Given the description of an element on the screen output the (x, y) to click on. 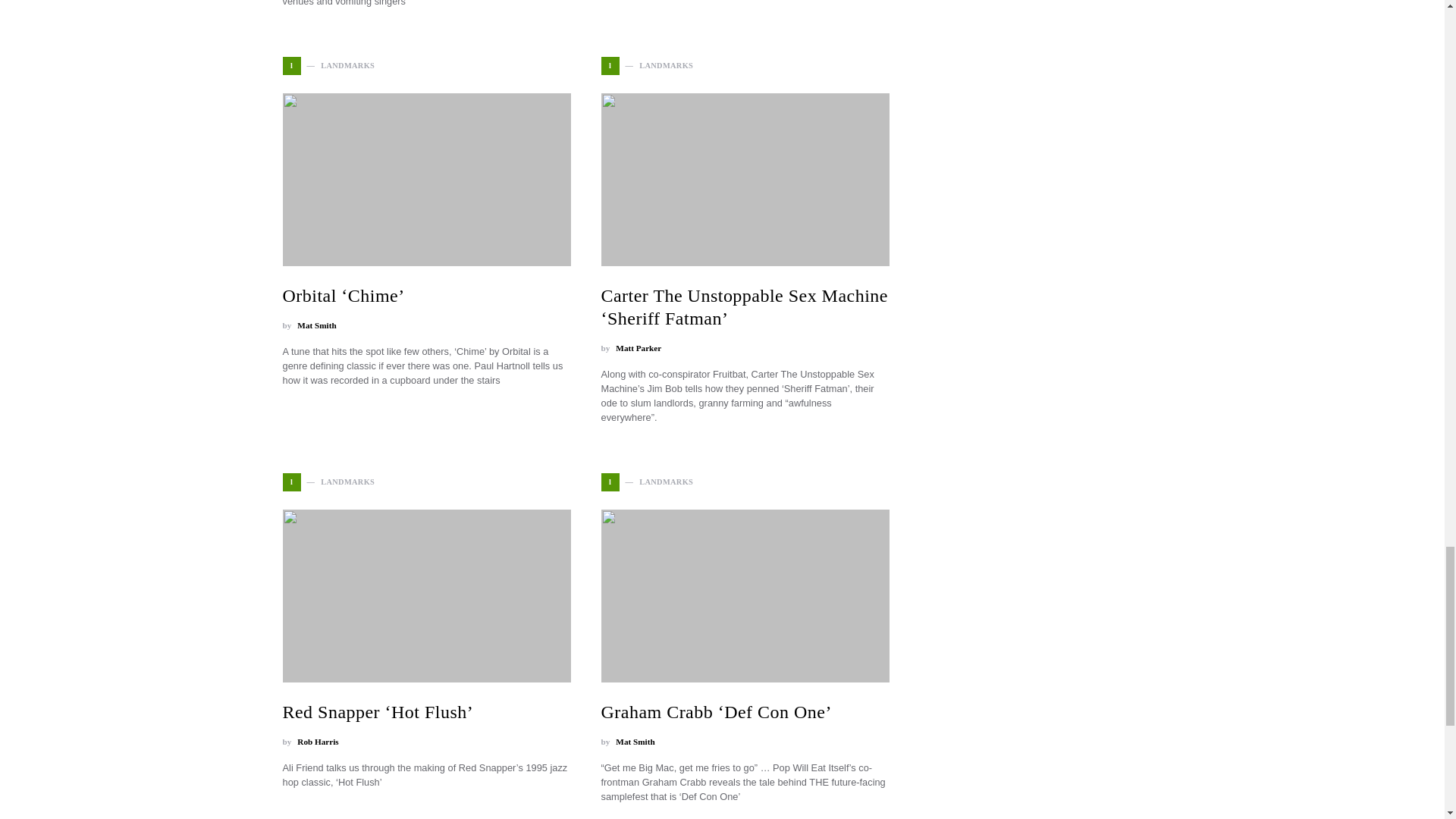
View all posts by Matt Parker (638, 348)
View all posts by Mat Smith (316, 325)
View all posts by Mat Smith (634, 741)
View all posts by Rob Harris (317, 741)
